Given the description of an element on the screen output the (x, y) to click on. 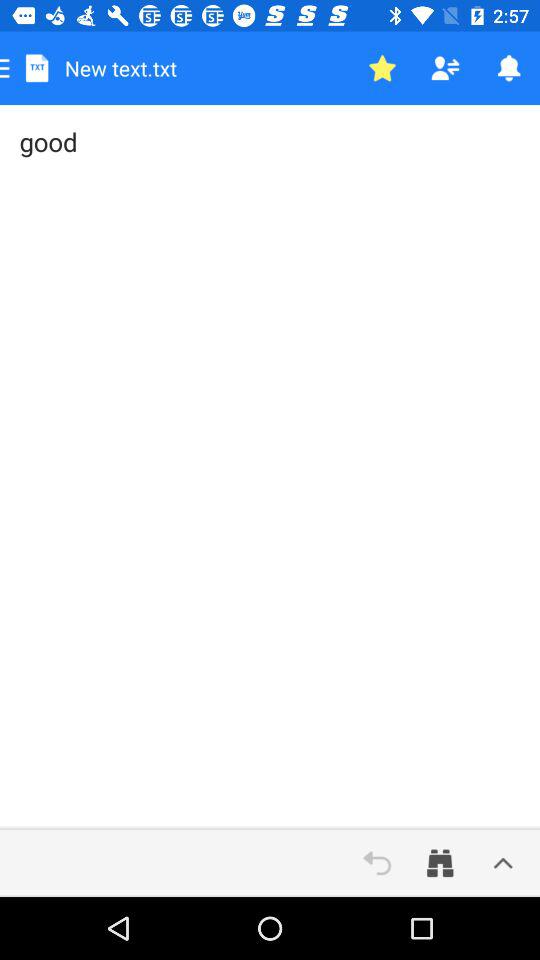
favorite (382, 68)
